Given the description of an element on the screen output the (x, y) to click on. 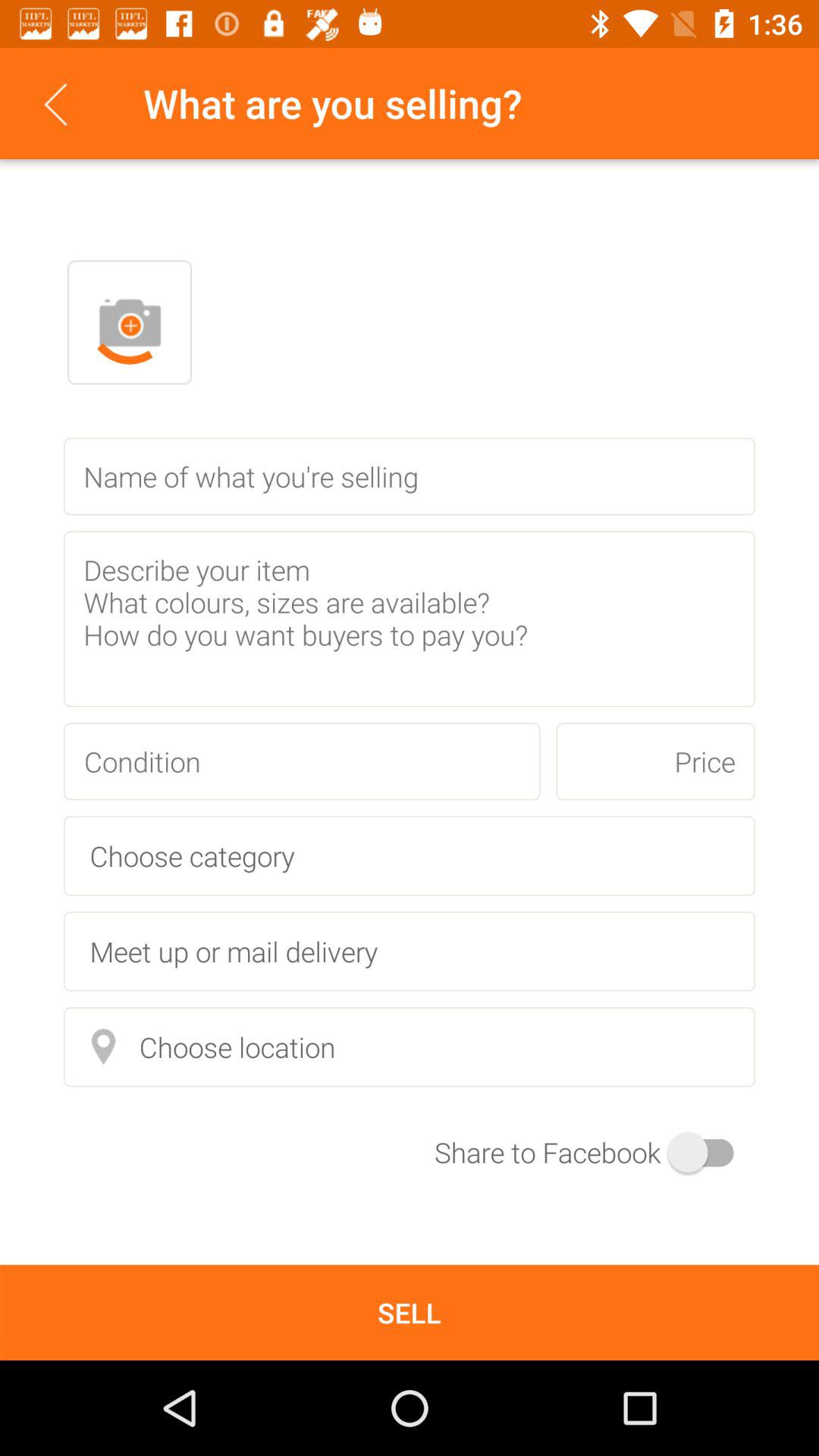
press choose location icon (409, 1046)
